Given the description of an element on the screen output the (x, y) to click on. 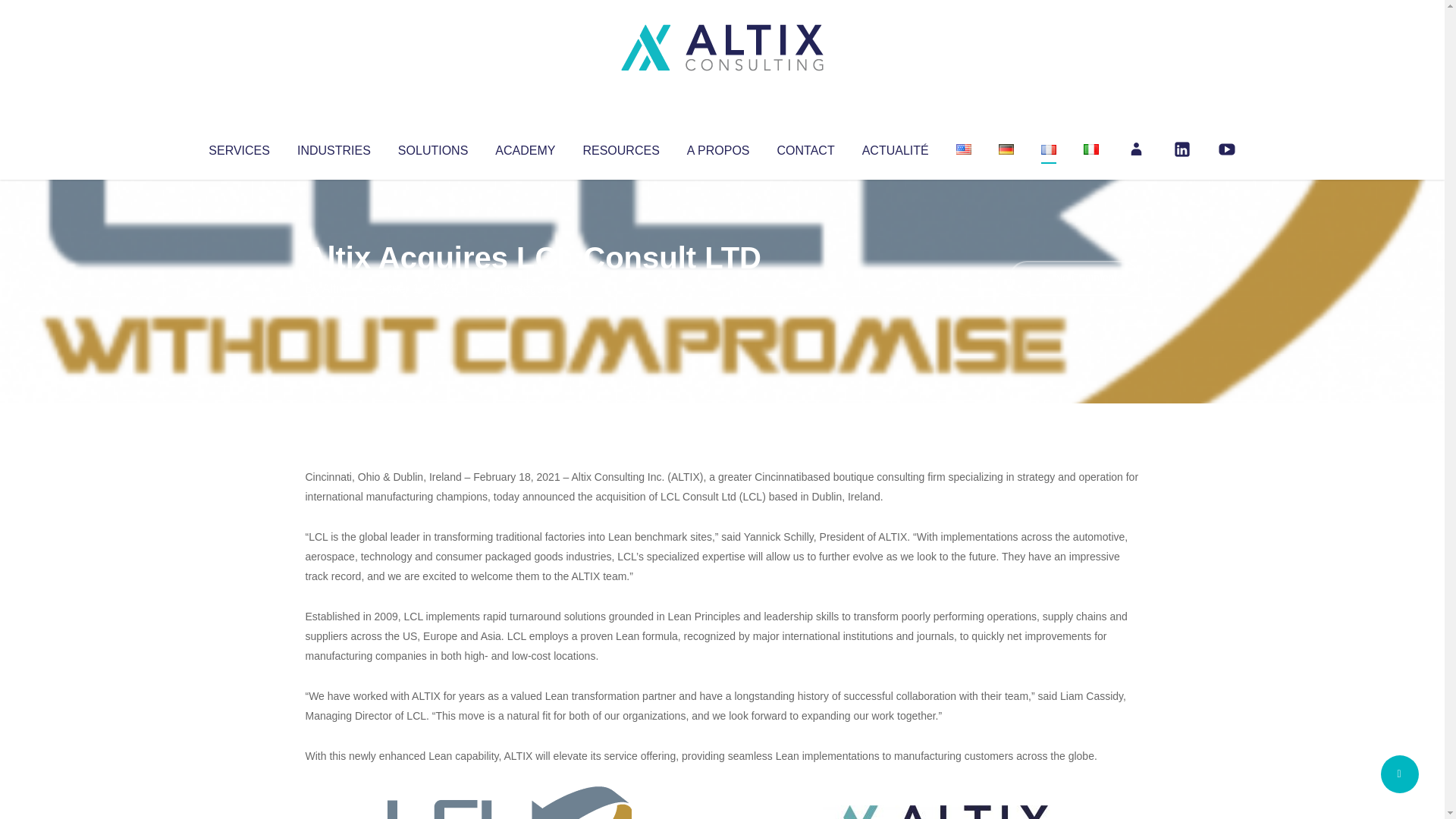
SOLUTIONS (432, 146)
No Comments (1073, 278)
SERVICES (238, 146)
ACADEMY (524, 146)
RESOURCES (620, 146)
Articles par Altix (333, 287)
INDUSTRIES (334, 146)
Uncategorized (530, 287)
A PROPOS (718, 146)
Altix (333, 287)
